Given the description of an element on the screen output the (x, y) to click on. 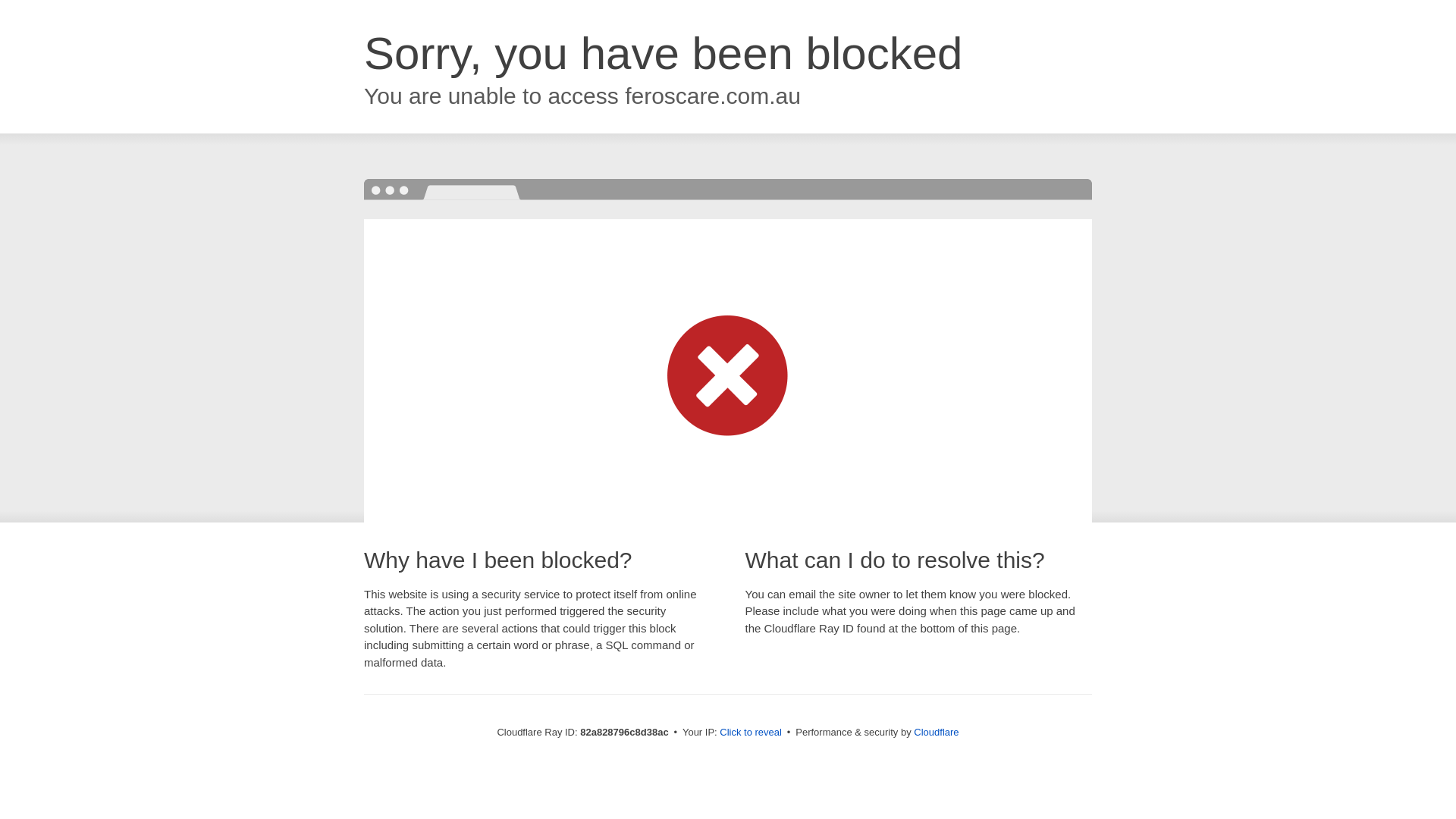
Cloudflare Element type: text (935, 731)
Click to reveal Element type: text (750, 732)
